Given the description of an element on the screen output the (x, y) to click on. 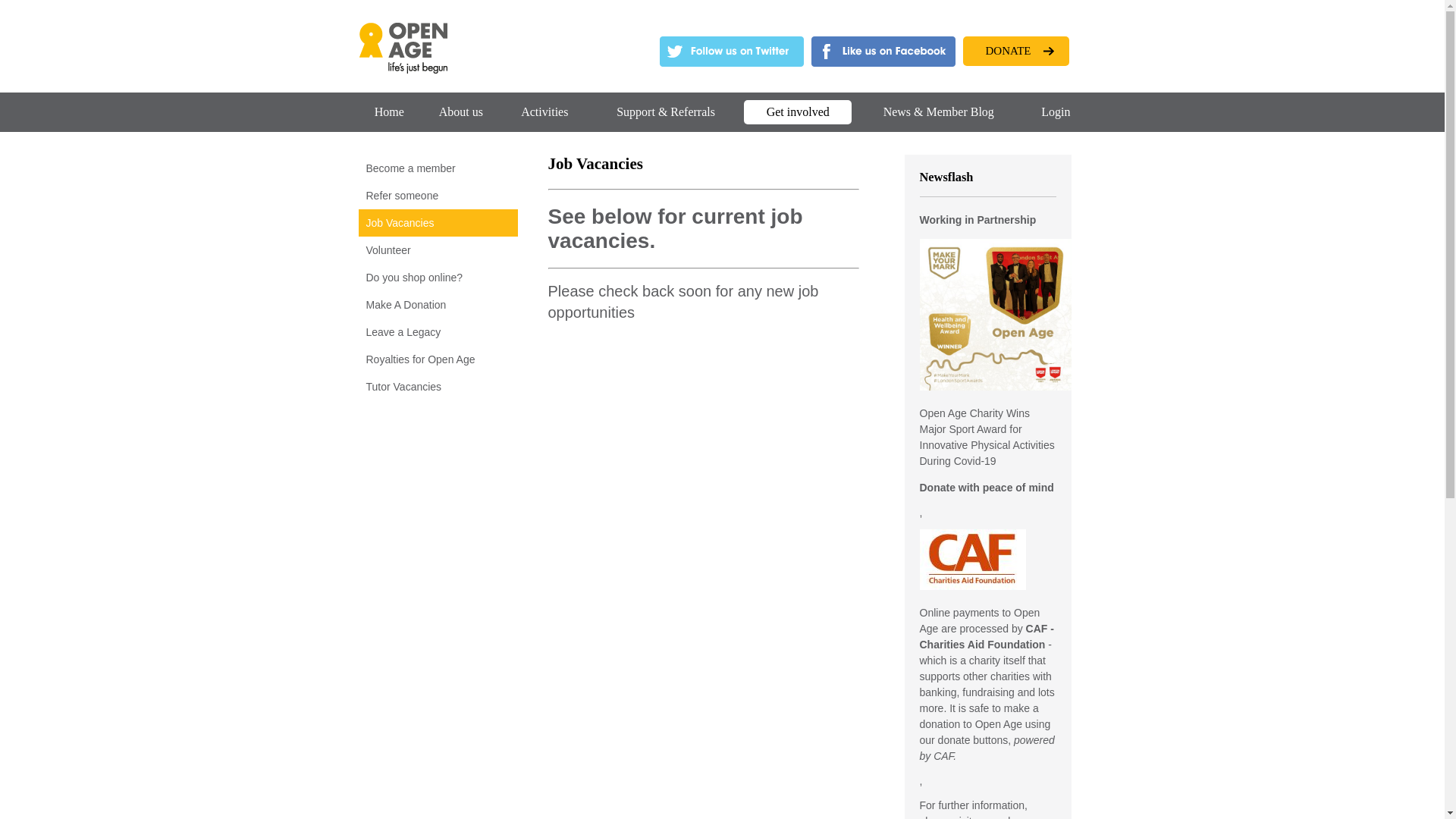
Become a member (437, 168)
Donate (1048, 50)
Login (1055, 111)
About us (461, 111)
raise money for Open Age everytime you shop online (437, 277)
Leave a gift in your Will (437, 331)
Job Vacancies (437, 223)
Home (389, 111)
Home (402, 69)
You can donate in a number of ways (437, 304)
